Given the description of an element on the screen output the (x, y) to click on. 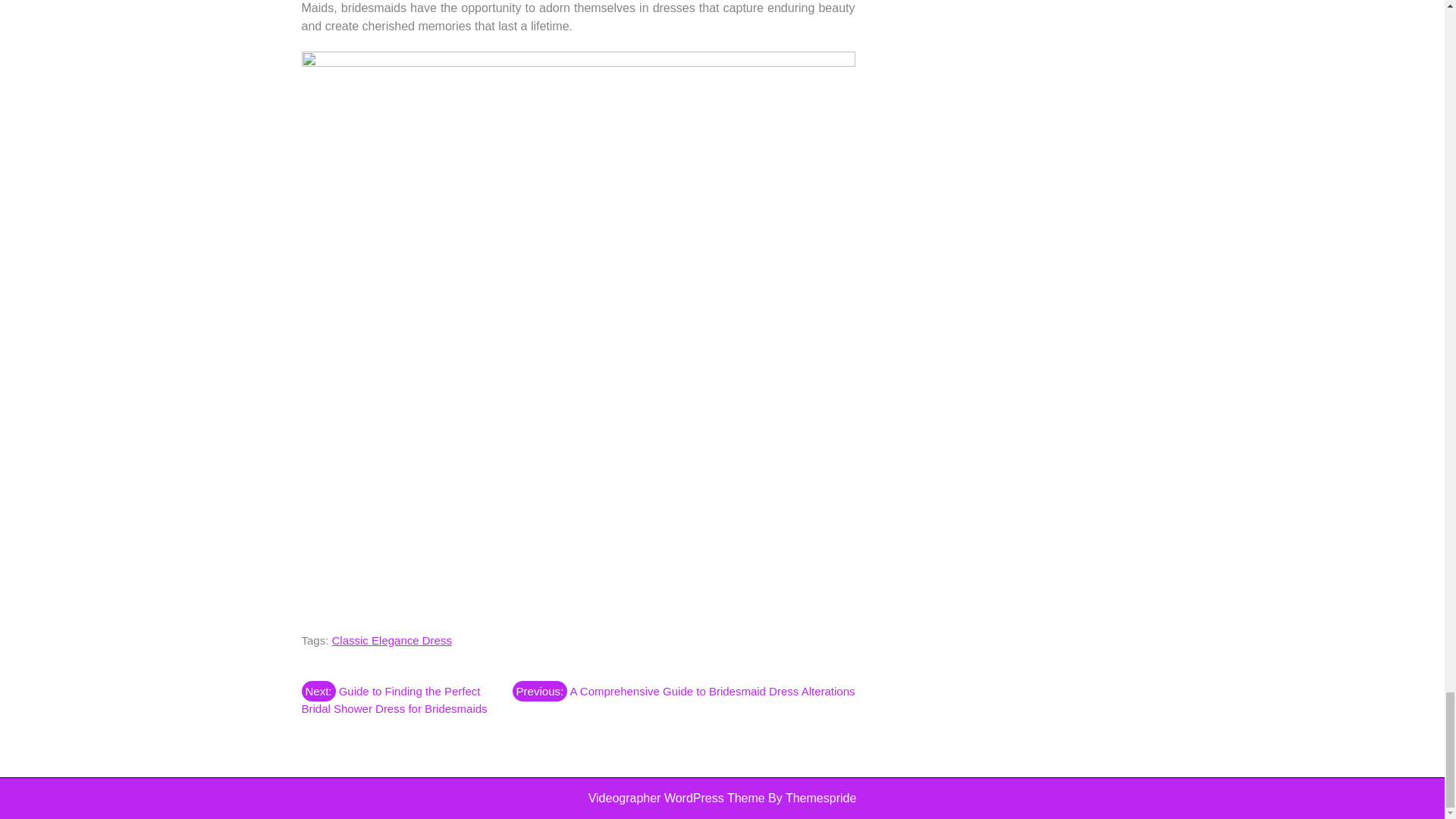
Classic Elegance Dress (391, 640)
